Given the description of an element on the screen output the (x, y) to click on. 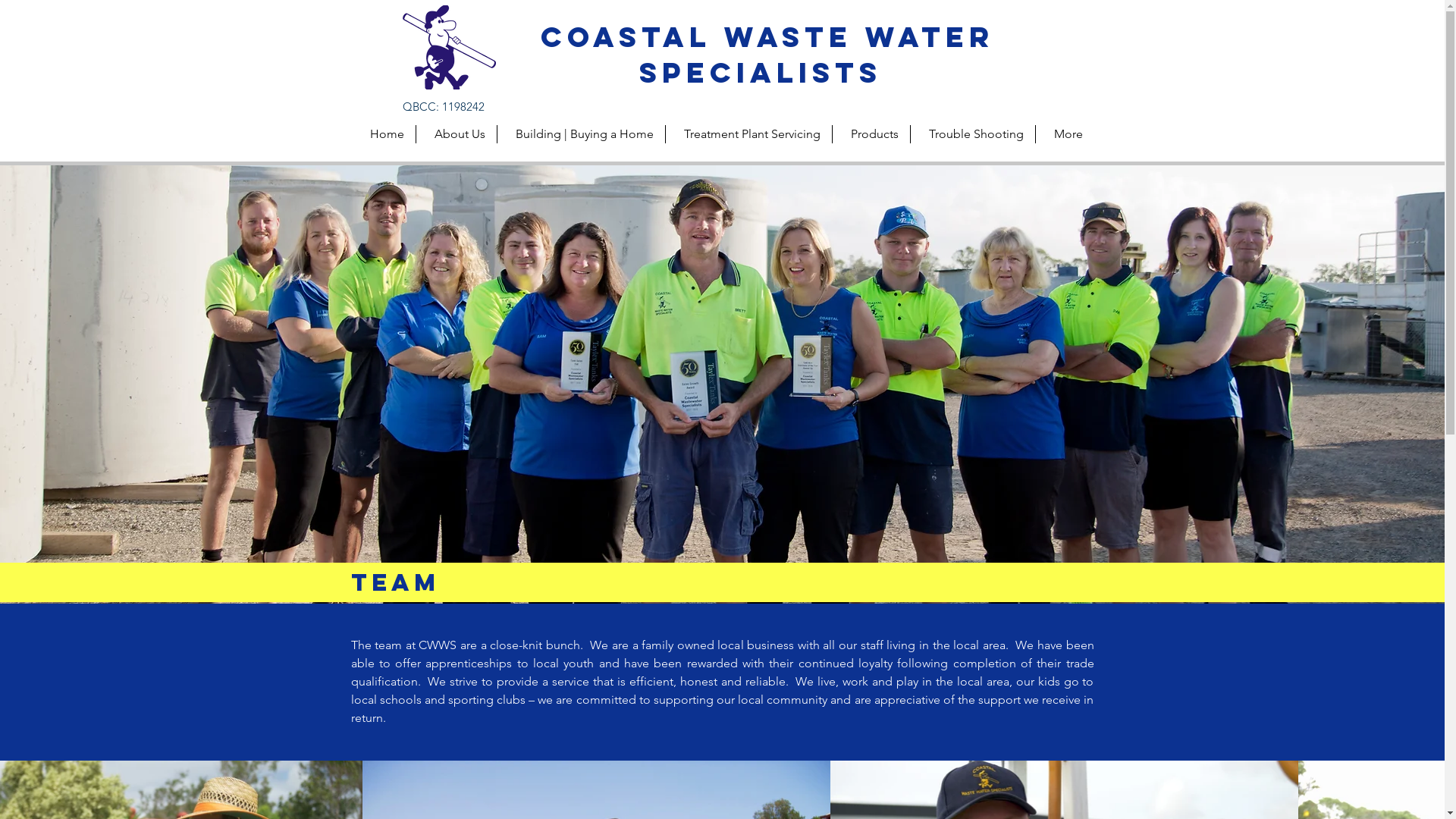
Treatment Plant Servicing Element type: text (747, 134)
Trouble Shooting Element type: text (972, 134)
Building | Buying a Home Element type: text (579, 134)
About Us Element type: text (455, 134)
Home Element type: text (382, 134)
Products Element type: text (870, 134)
